Given the description of an element on the screen output the (x, y) to click on. 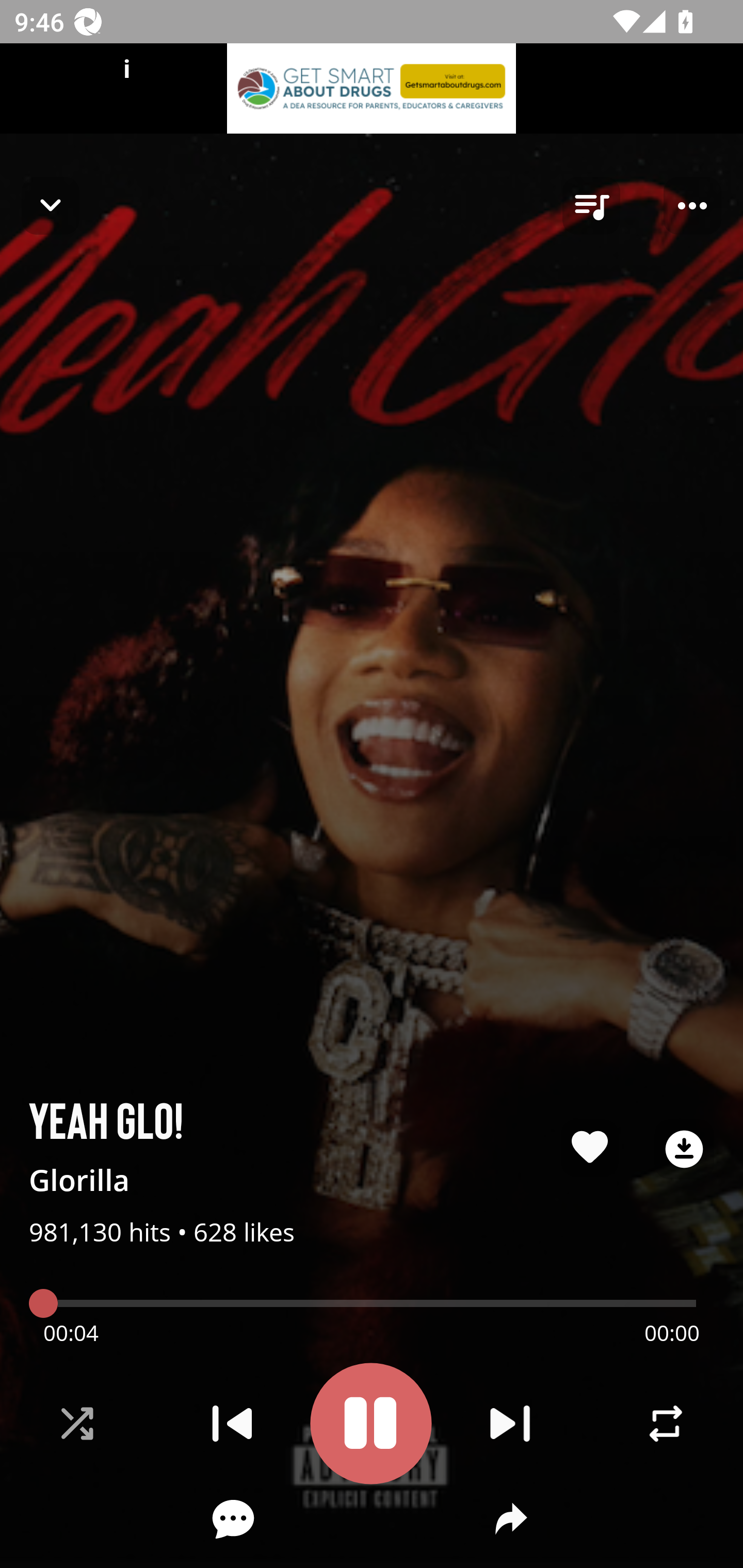
Navigate up (50, 205)
queue (590, 206)
Player options (692, 206)
